Given the description of an element on the screen output the (x, y) to click on. 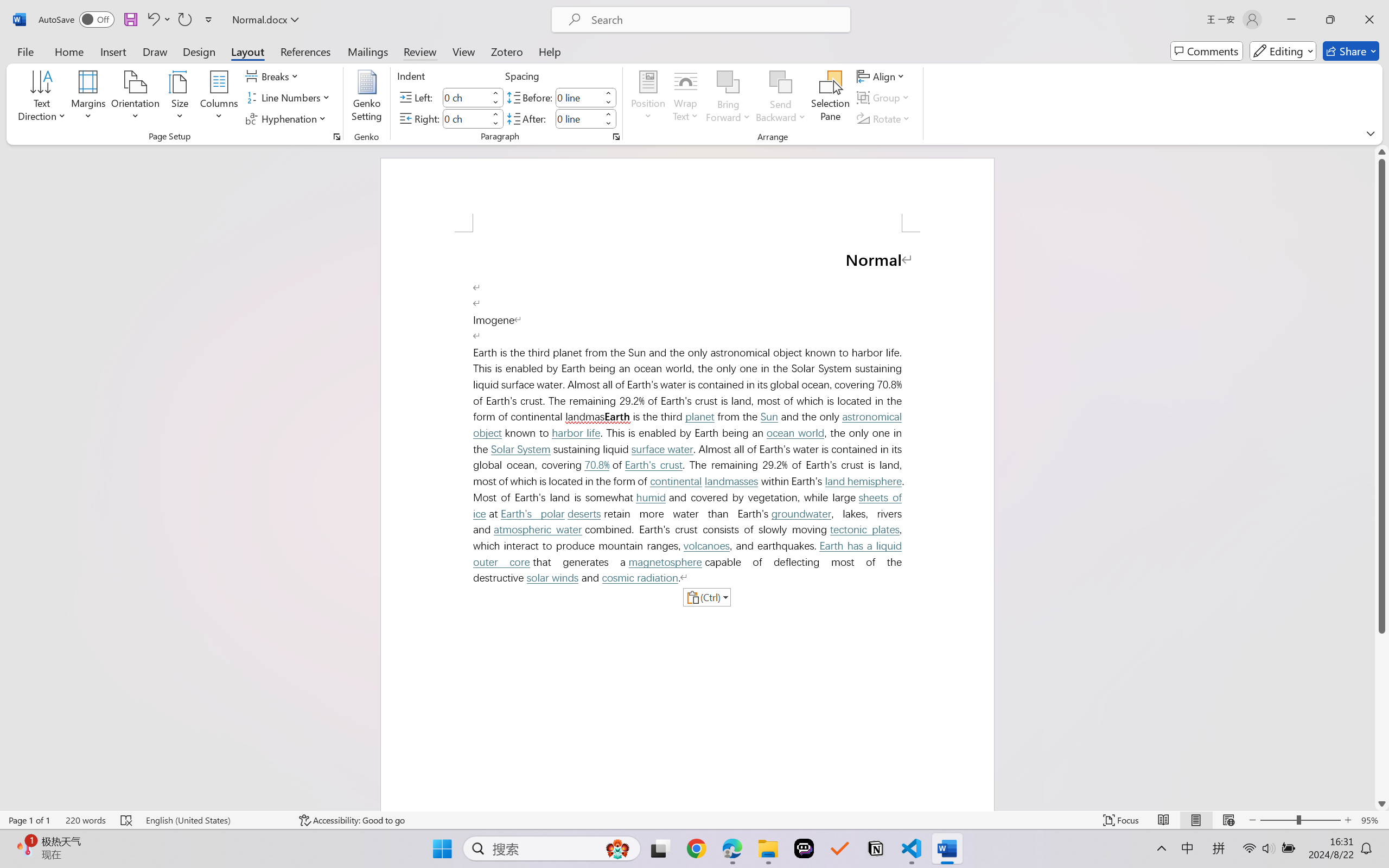
sheets of ice (690, 505)
humid (650, 497)
Line down (1382, 803)
ocean world (794, 433)
Header -Section 1- (687, 194)
Less (608, 123)
atmospheric water (537, 529)
Page Setup... (336, 136)
Text Direction (42, 97)
